Given the description of an element on the screen output the (x, y) to click on. 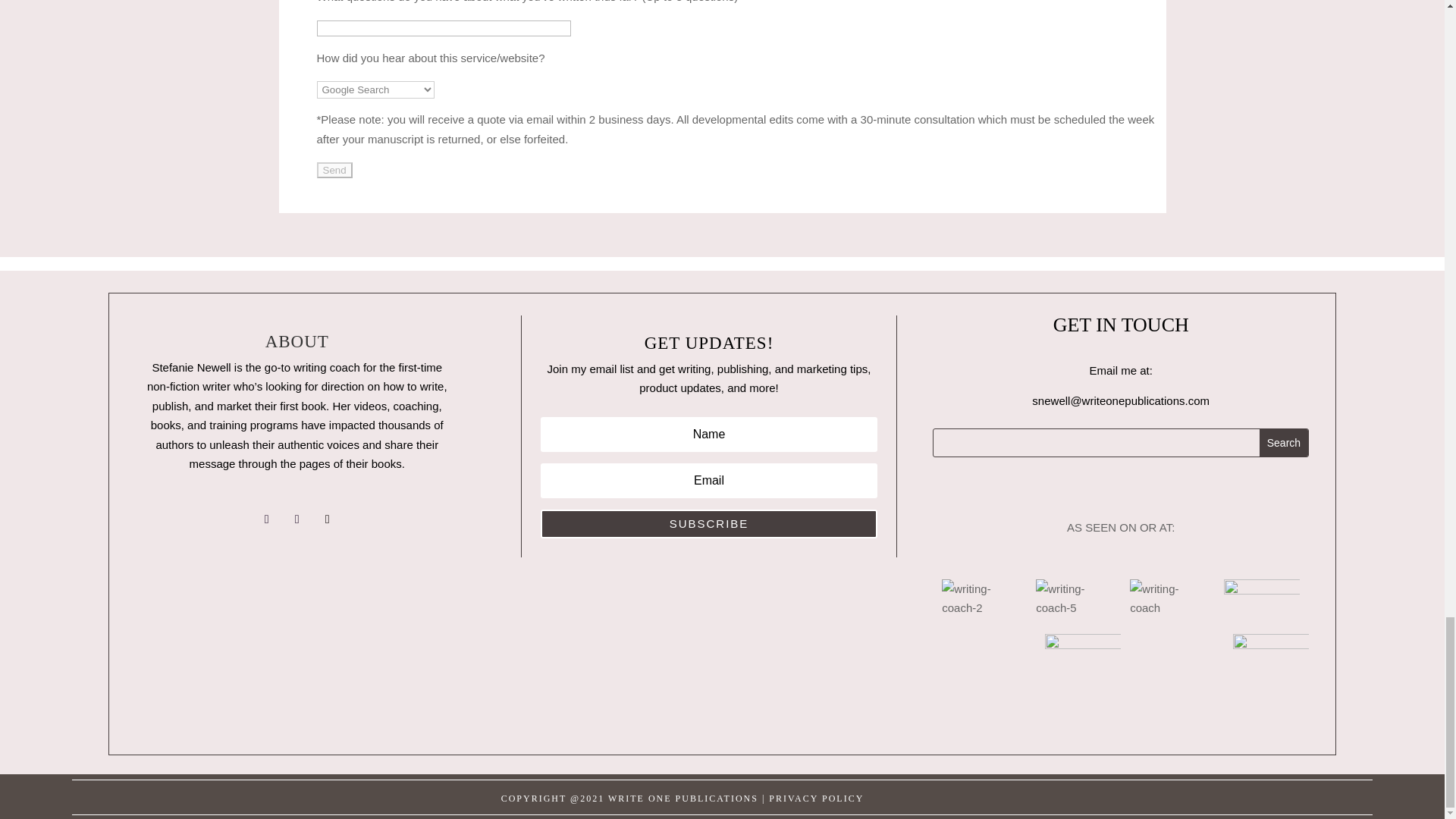
Follow on LinkedIn (327, 518)
SUBSCRIBE (708, 523)
Send (334, 170)
Search (1283, 442)
Search (1283, 442)
Search (1283, 442)
Send (334, 170)
PRIVACY POLICY (815, 798)
Follow on Instagram (266, 518)
Follow on Youtube (296, 518)
